Given the description of an element on the screen output the (x, y) to click on. 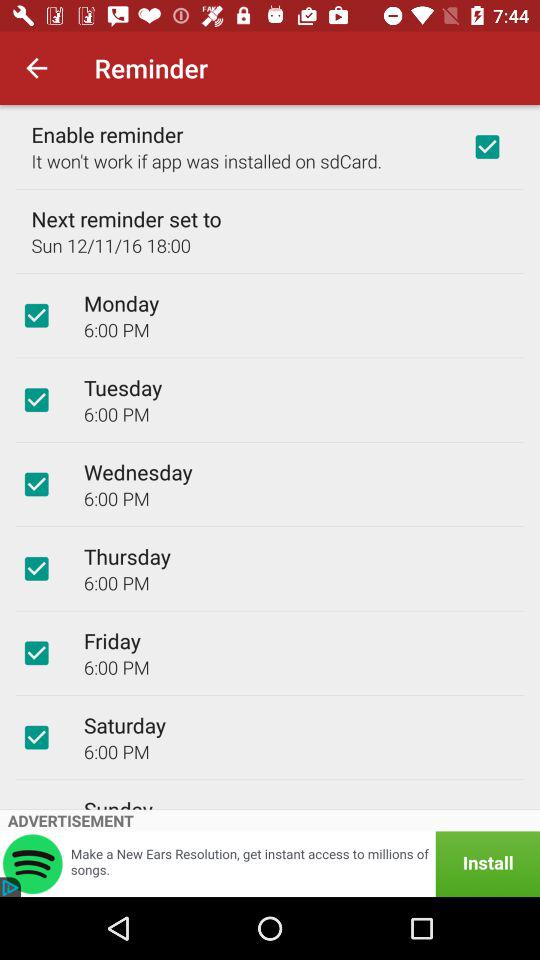
click the icon to the left of the sunday (36, 805)
